Given the description of an element on the screen output the (x, y) to click on. 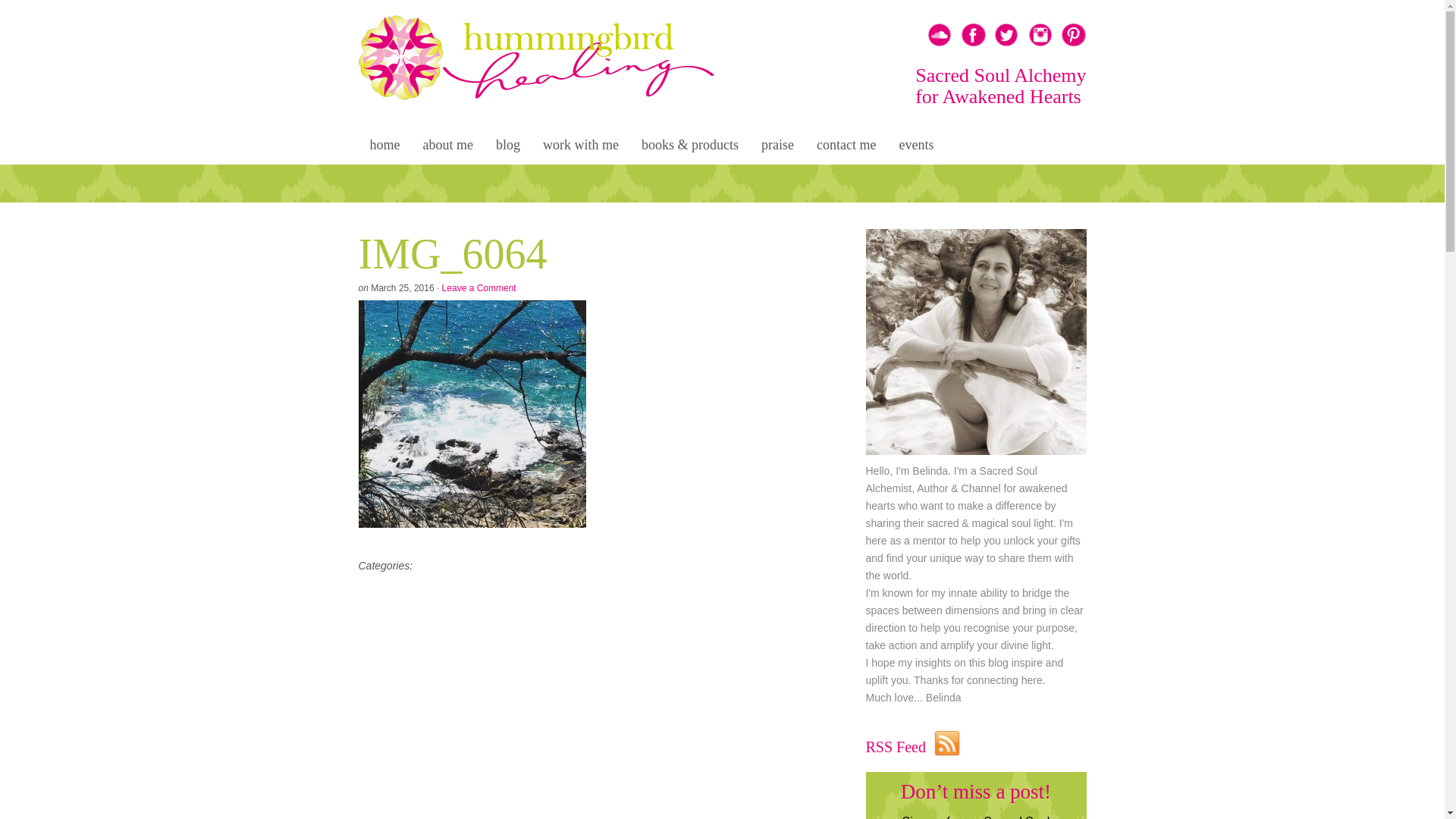
Hummingbird Healing Element type: text (539, 71)
praise Element type: text (777, 146)
work with me Element type: text (580, 146)
blog Element type: text (507, 146)
contact me Element type: text (846, 146)
books & products Element type: text (689, 146)
home Element type: text (384, 146)
RSS Feed Element type: hover (946, 750)
Leave a Comment Element type: text (479, 287)
about me Element type: text (447, 146)
events Element type: text (915, 146)
